Given the description of an element on the screen output the (x, y) to click on. 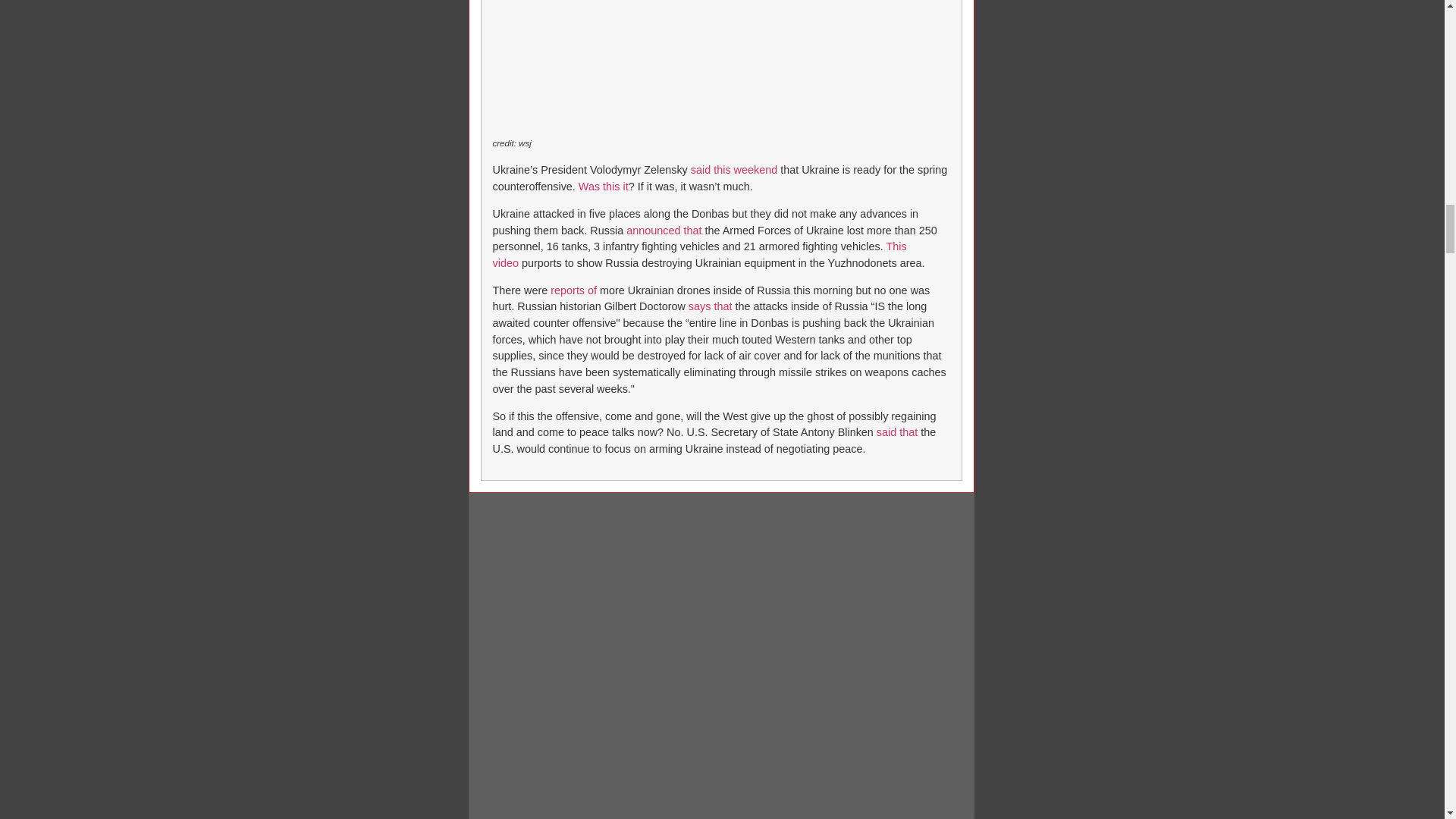
Was this it (603, 186)
said that (896, 431)
This video (700, 254)
redit: (506, 143)
says that (710, 306)
announced that (663, 230)
reports of (573, 290)
said this weekend (733, 169)
